Given the description of an element on the screen output the (x, y) to click on. 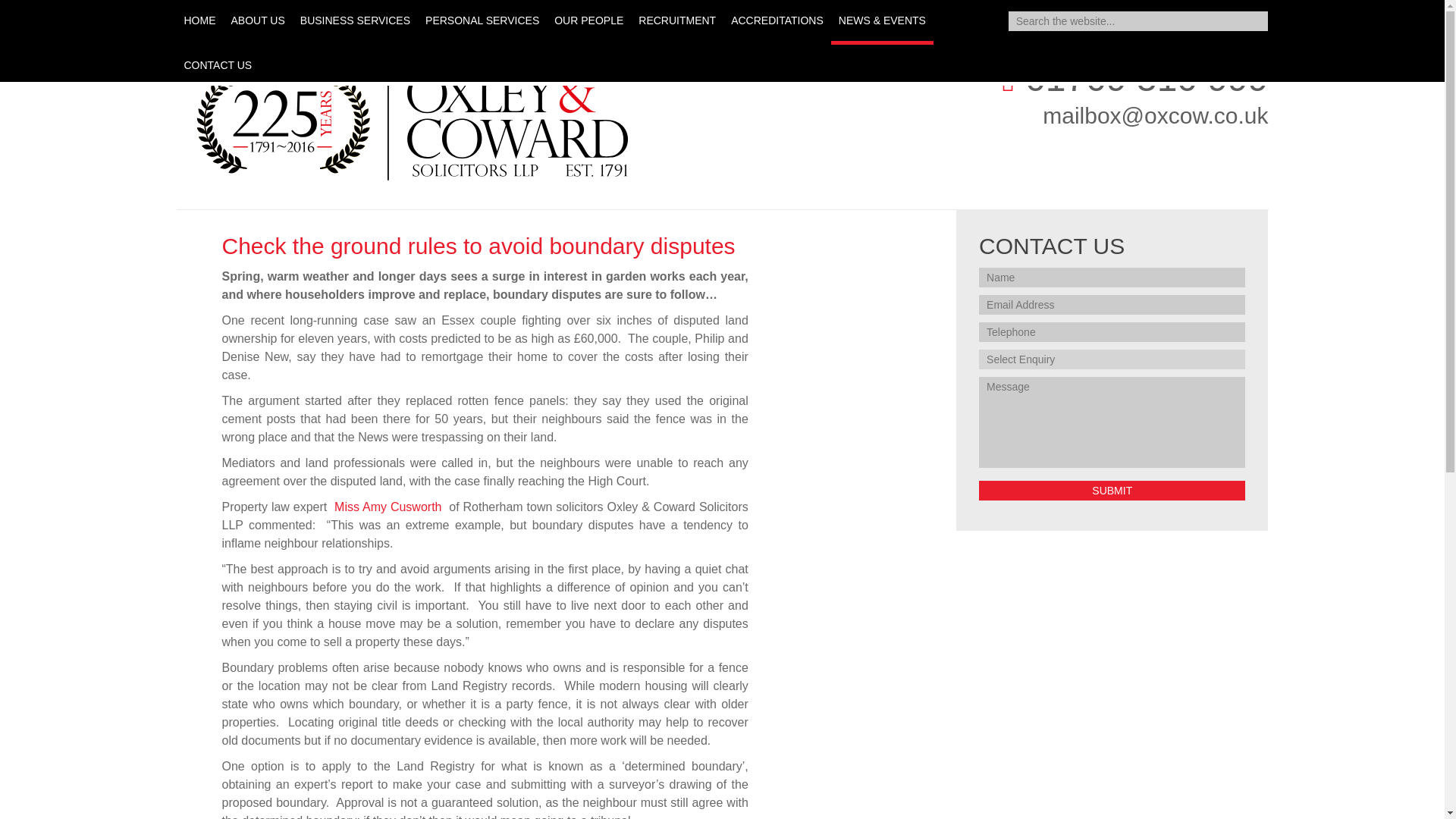
OUR PEOPLE (588, 20)
ACCREDITATIONS (777, 20)
BUSINESS SERVICES (354, 20)
01709 510 999 (1132, 78)
PERSONAL SERVICES (482, 20)
CONTACT US (217, 65)
Submit (1111, 490)
HOME (199, 20)
Miss Amy Cusworth (387, 506)
RECRUITMENT (676, 20)
